Given the description of an element on the screen output the (x, y) to click on. 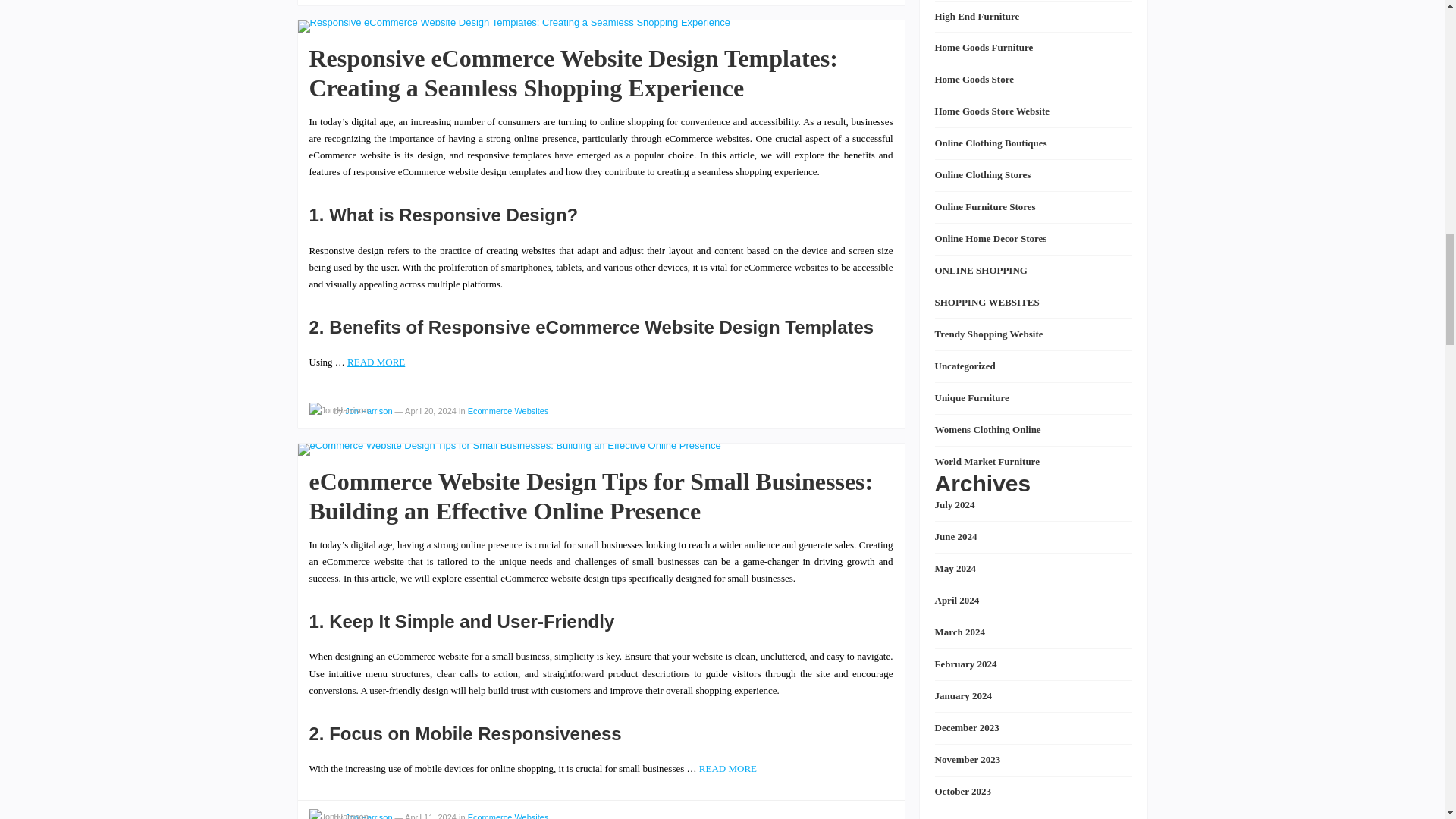
View all posts by Jon Harrison (338, 410)
View all posts by Jon Harrison (338, 814)
